Given the description of an element on the screen output the (x, y) to click on. 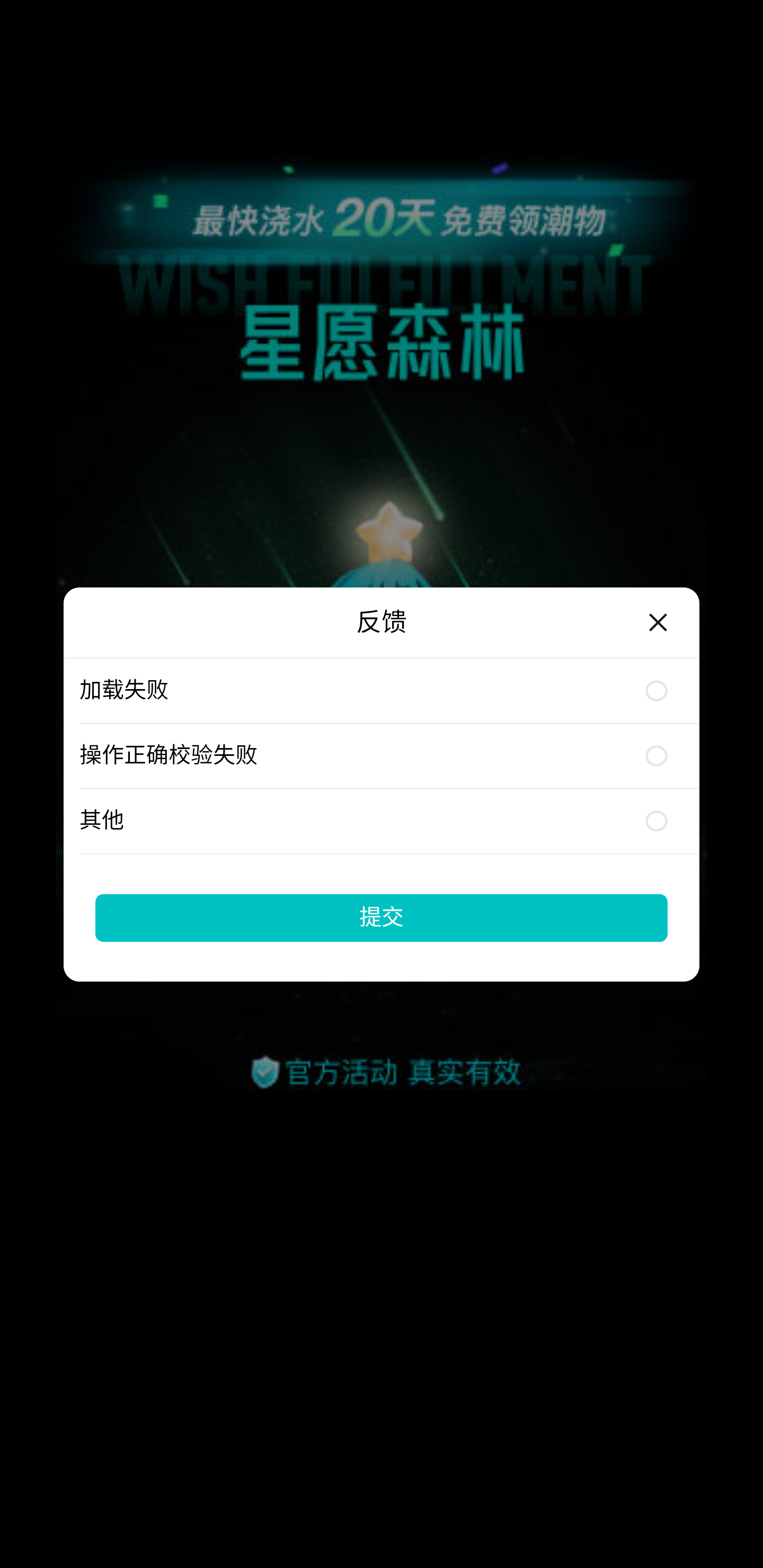
提交 (381, 917)
